Given the description of an element on the screen output the (x, y) to click on. 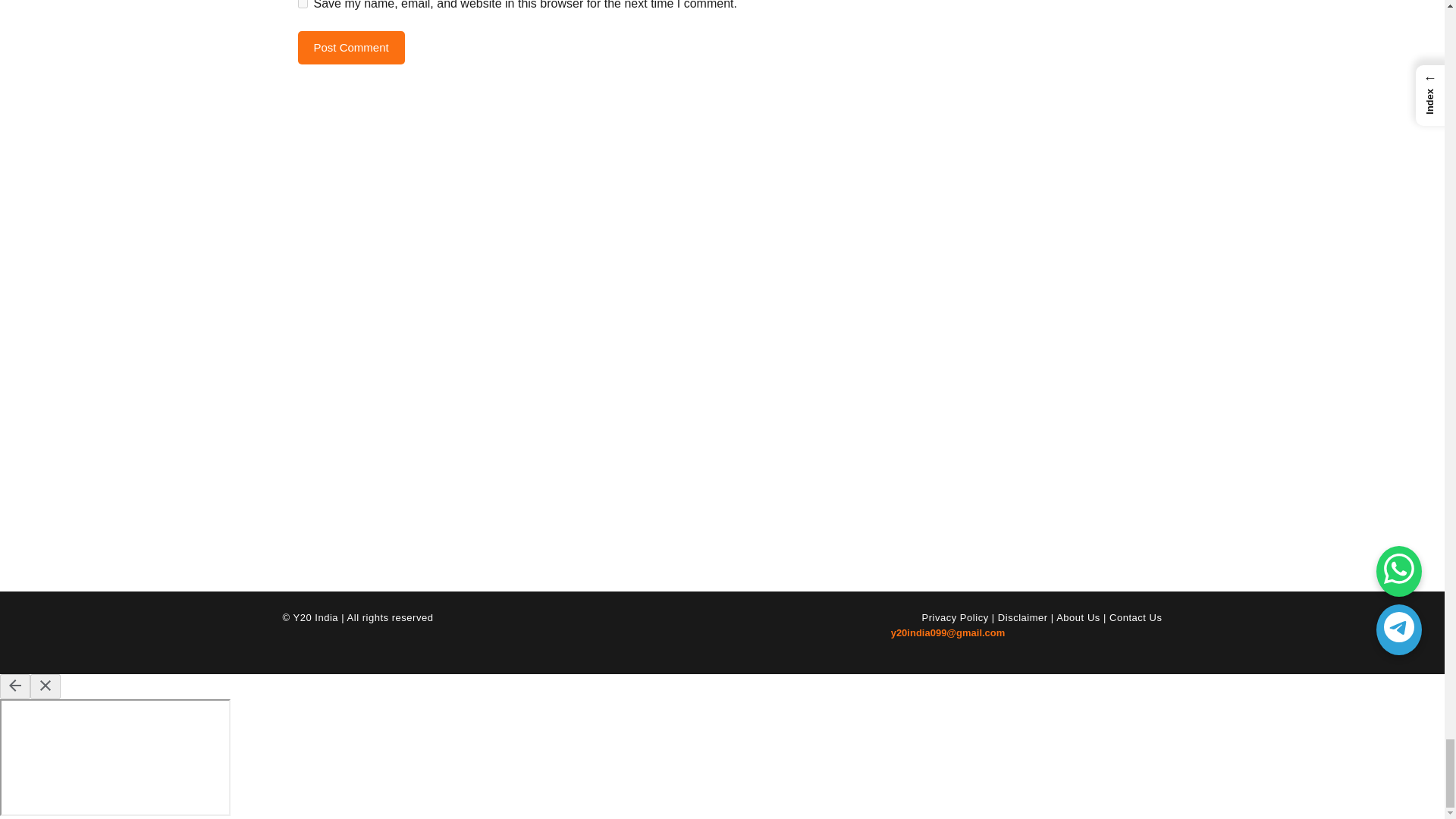
yes (302, 4)
Post Comment (350, 48)
